Given the description of an element on the screen output the (x, y) to click on. 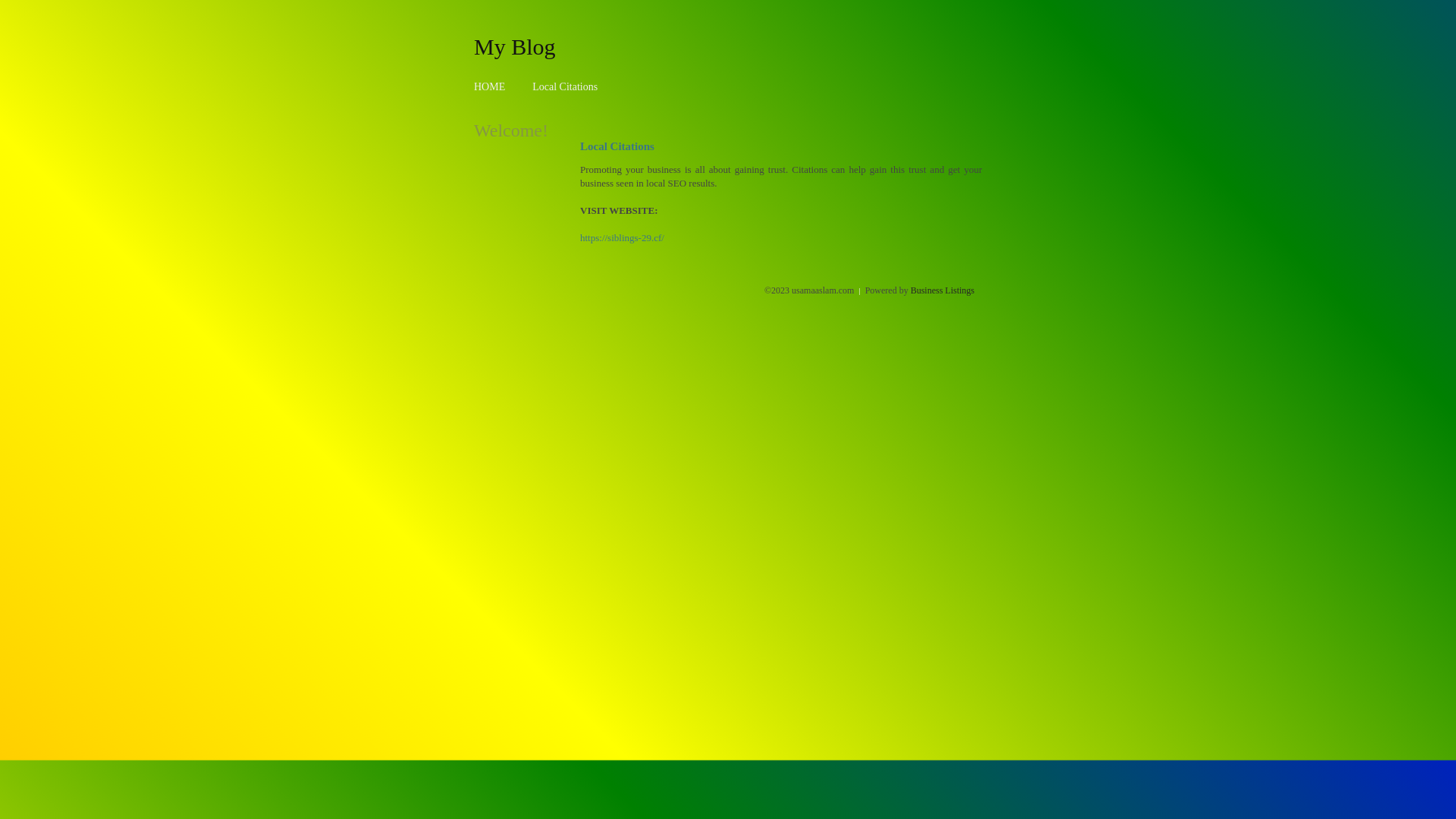
Local Citations Element type: text (564, 86)
Business Listings Element type: text (942, 290)
https://siblings-29.cf/ Element type: text (622, 237)
HOME Element type: text (489, 86)
My Blog Element type: text (514, 46)
